Given the description of an element on the screen output the (x, y) to click on. 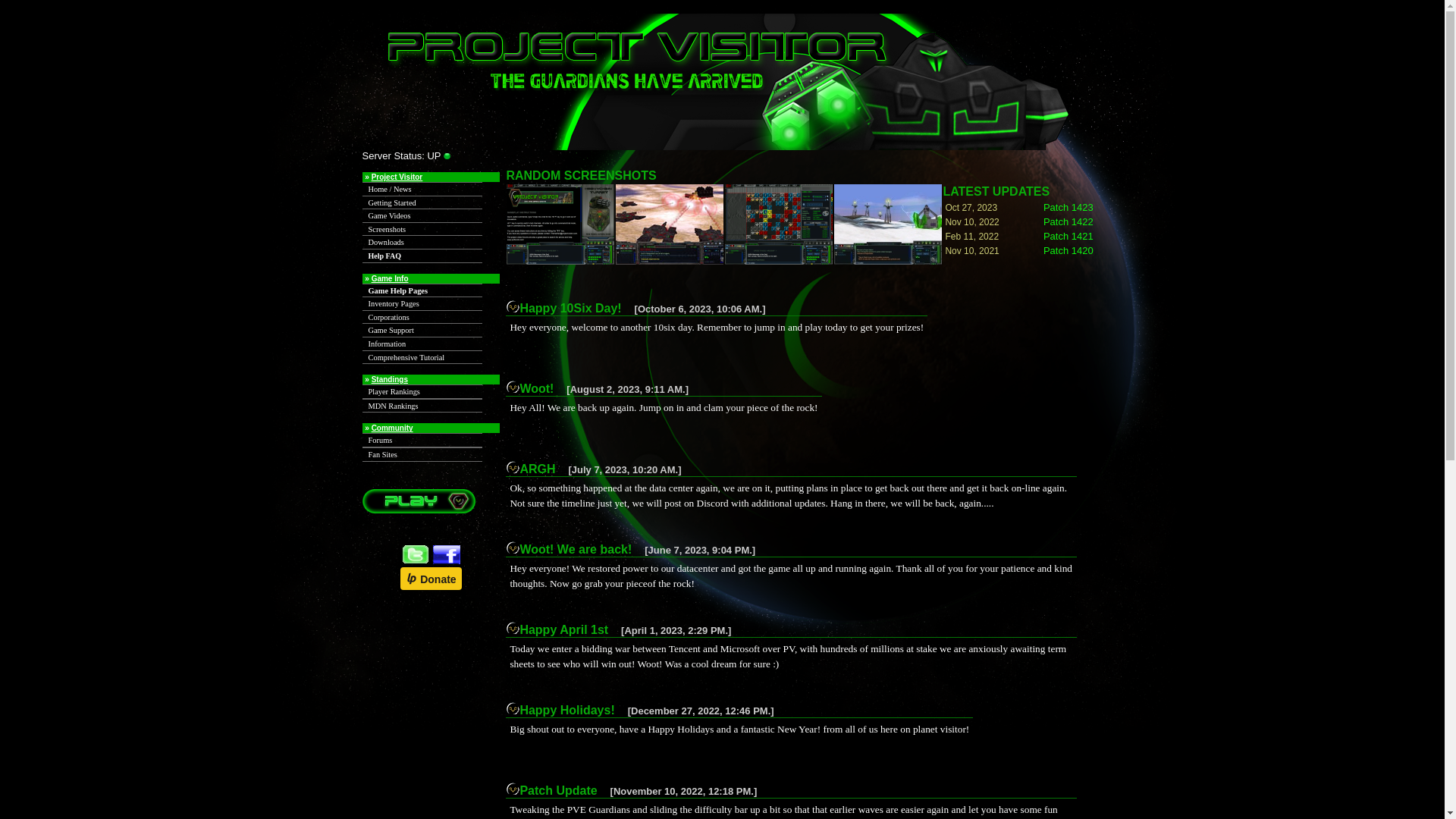
Donate Element type: text (430, 578)
Patch 1423 Element type: text (1068, 207)
Player Rankings Element type: text (422, 391)
Follow us on twitter! Element type: hover (415, 559)
Home / News Element type: text (422, 188)
Game Support Element type: text (422, 329)
Inventory Pages Element type: text (422, 303)
Fan Sites Element type: text (422, 454)
Comprehensive Tutorial Element type: text (422, 357)
Help FAQ Element type: text (422, 255)
Forums Element type: text (422, 439)
Launch PV! Element type: hover (419, 510)
Like us on facebook! Element type: hover (446, 559)
Getting Started Element type: text (422, 202)
Patch 1420 Element type: text (1068, 250)
Corporations Element type: text (422, 316)
Game Help Pages Element type: text (422, 290)
Patch 1422 Element type: text (1068, 221)
MDN Rankings Element type: text (422, 405)
Information Element type: text (422, 343)
Game Videos Element type: text (422, 215)
Downloads Element type: text (422, 241)
Screenshots Element type: text (422, 228)
Patch 1421 Element type: text (1068, 235)
